Given the description of an element on the screen output the (x, y) to click on. 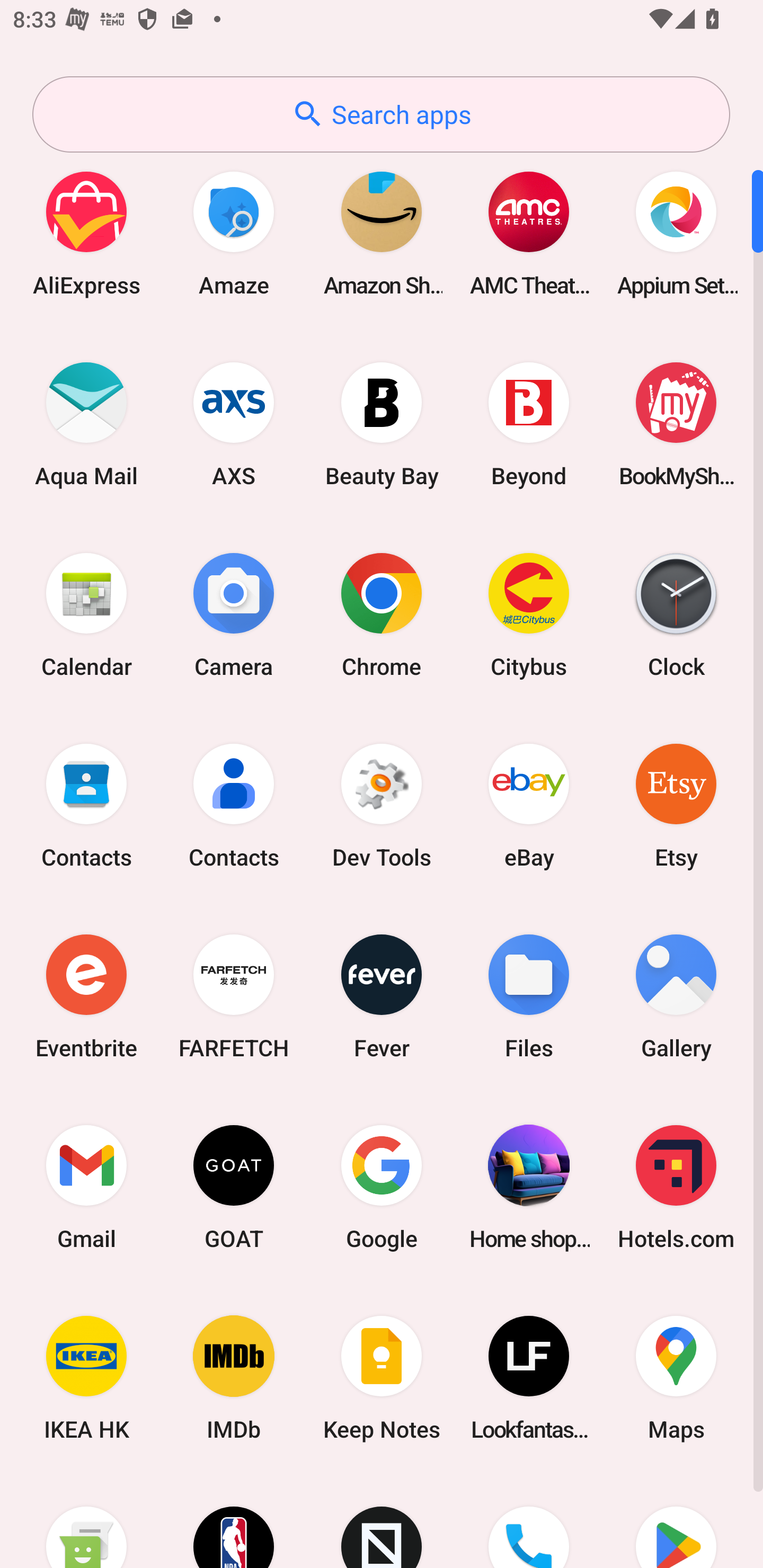
  Search apps (381, 114)
AliExpress (86, 233)
Amaze (233, 233)
Amazon Shopping (381, 233)
AMC Theatres (528, 233)
Appium Settings (676, 233)
Aqua Mail (86, 424)
AXS (233, 424)
Beauty Bay (381, 424)
Beyond (528, 424)
BookMyShow (676, 424)
Calendar (86, 614)
Camera (233, 614)
Chrome (381, 614)
Citybus (528, 614)
Clock (676, 614)
Contacts (86, 805)
Contacts (233, 805)
Dev Tools (381, 805)
eBay (528, 805)
Etsy (676, 805)
Eventbrite (86, 996)
FARFETCH (233, 996)
Fever (381, 996)
Files (528, 996)
Gallery (676, 996)
Gmail (86, 1186)
GOAT (233, 1186)
Google (381, 1186)
Home shopping (528, 1186)
Hotels.com (676, 1186)
IKEA HK (86, 1377)
IMDb (233, 1377)
Keep Notes (381, 1377)
Lookfantastic (528, 1377)
Maps (676, 1377)
Messaging (86, 1520)
NBA (233, 1520)
Novelship (381, 1520)
Phone (528, 1520)
Play Store (676, 1520)
